Given the description of an element on the screen output the (x, y) to click on. 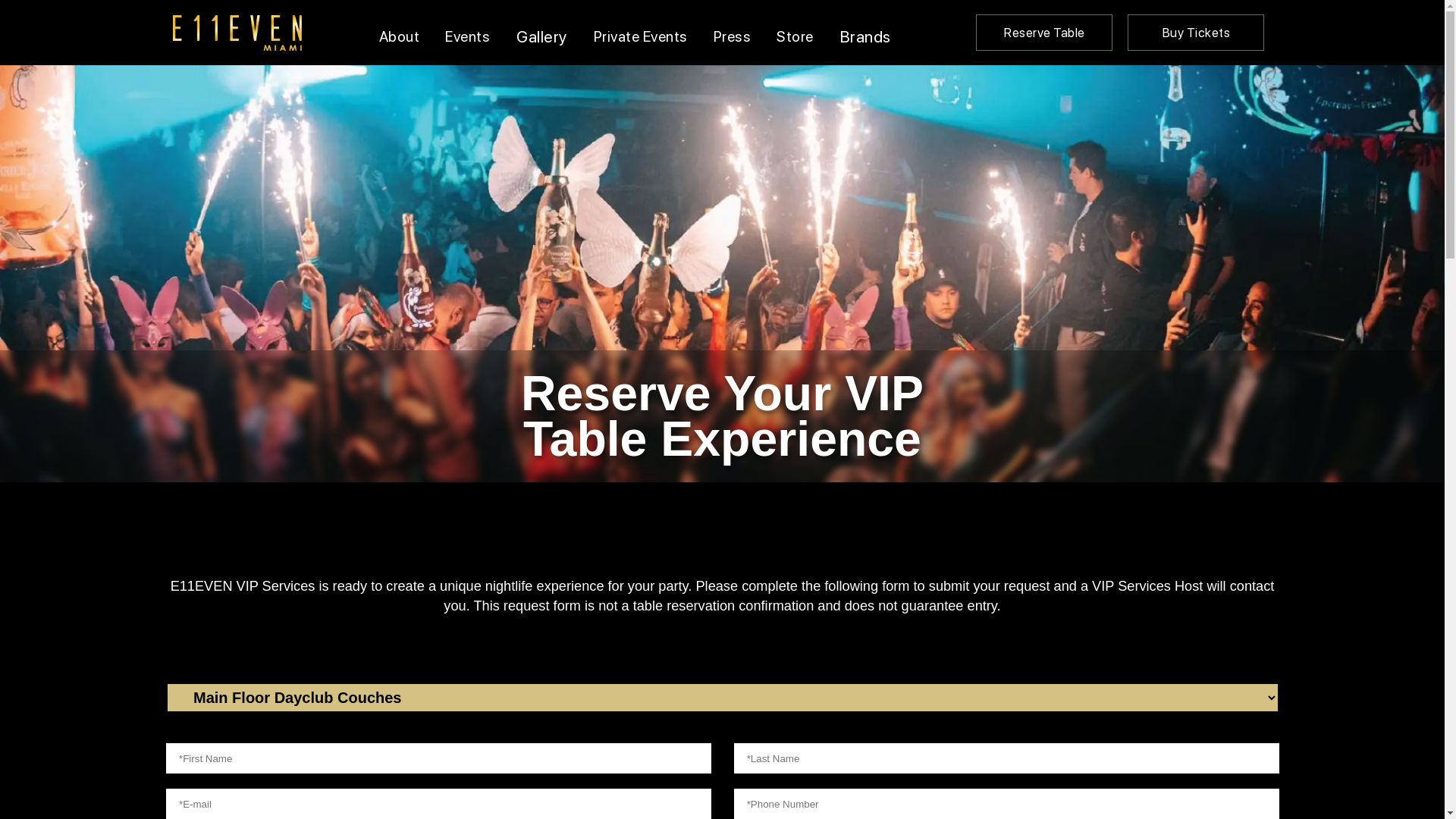
Events Element type: text (467, 32)
Reserve Table Element type: text (1043, 32)
Buy Tickets Element type: text (1195, 32)
Store Element type: text (794, 32)
Press Element type: text (732, 32)
About Element type: text (398, 32)
Private Events Element type: text (640, 32)
